Given the description of an element on the screen output the (x, y) to click on. 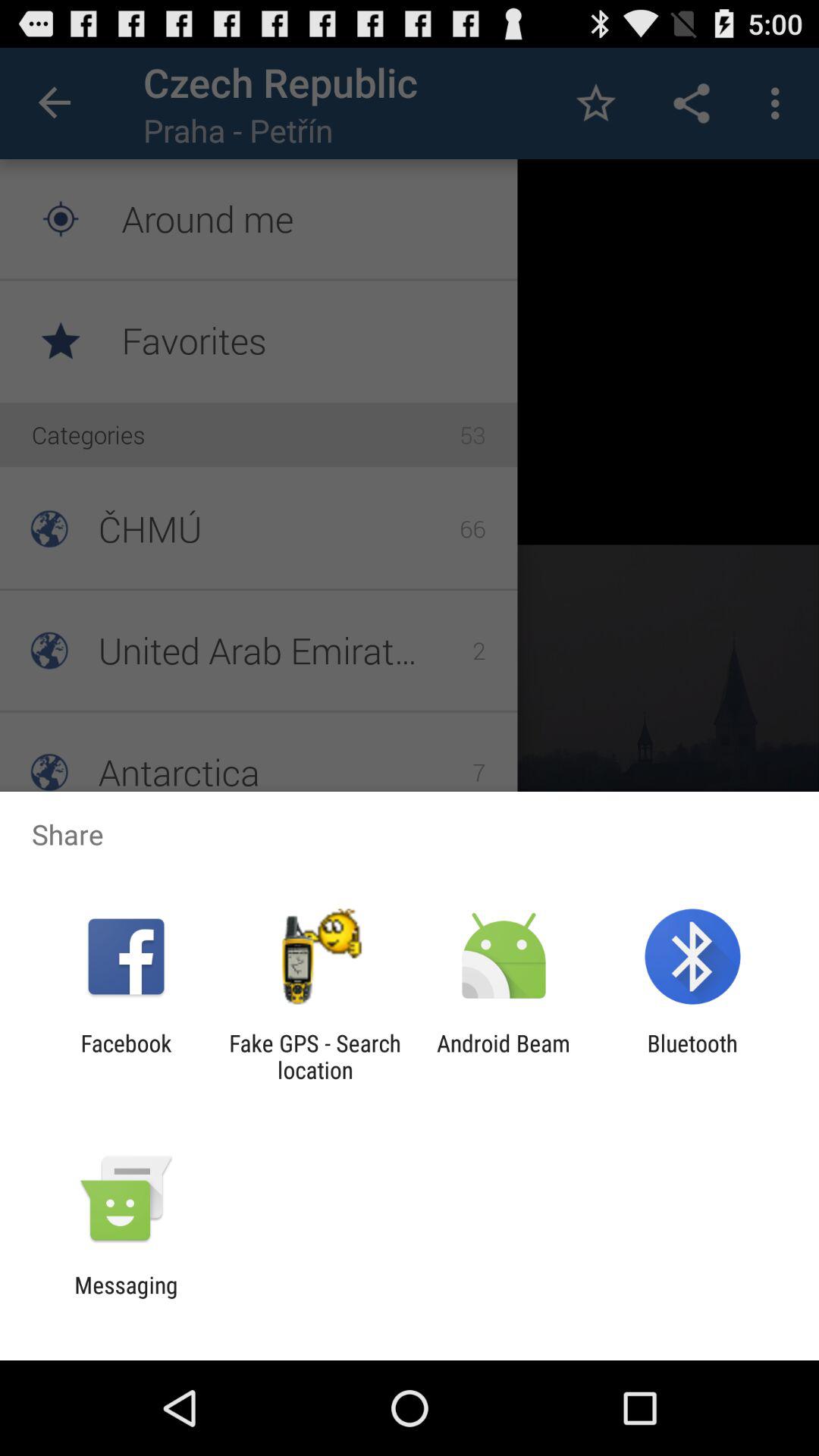
select the item to the right of the facebook item (314, 1056)
